Given the description of an element on the screen output the (x, y) to click on. 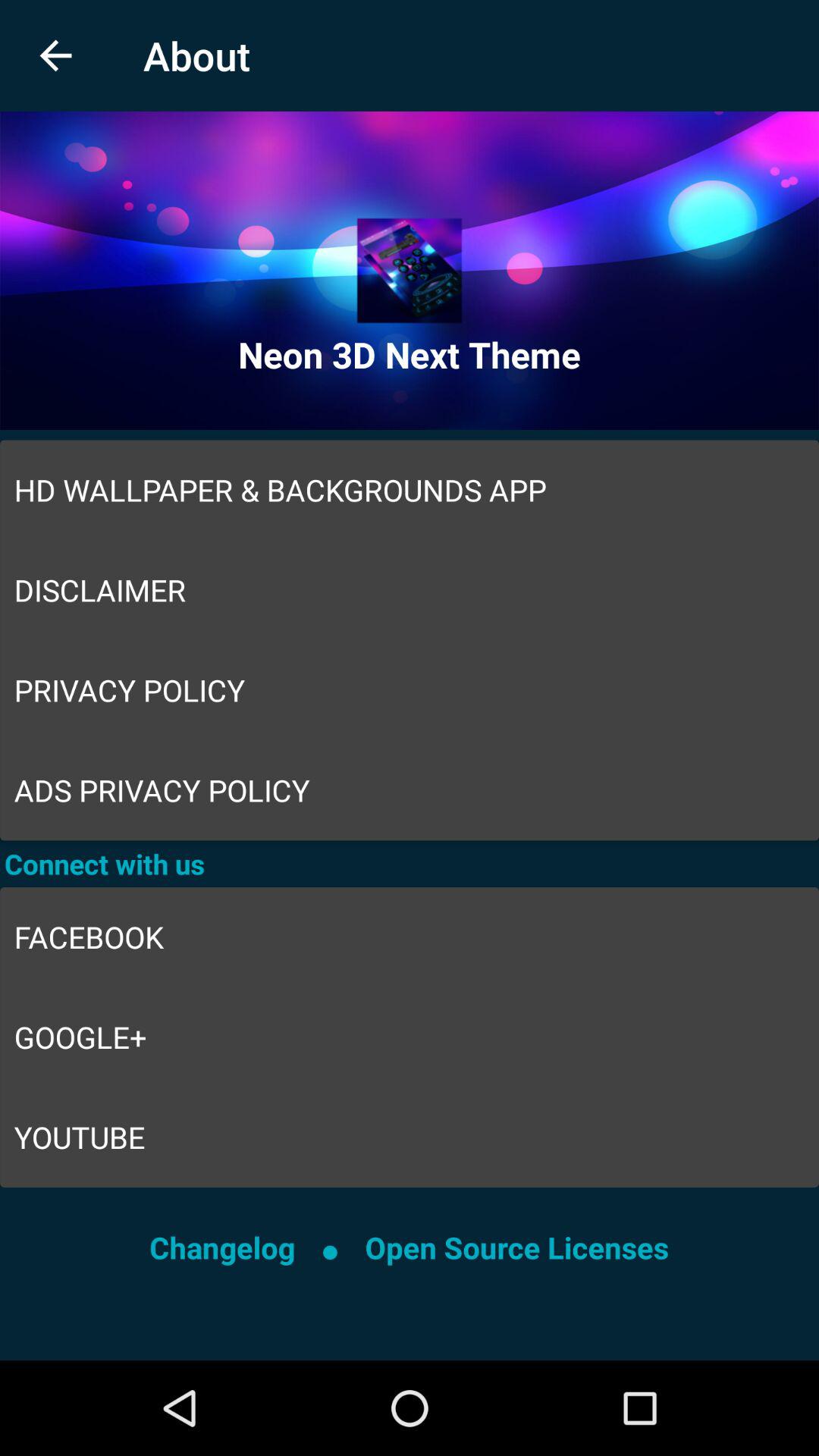
select icon above the youtube icon (409, 1037)
